Given the description of an element on the screen output the (x, y) to click on. 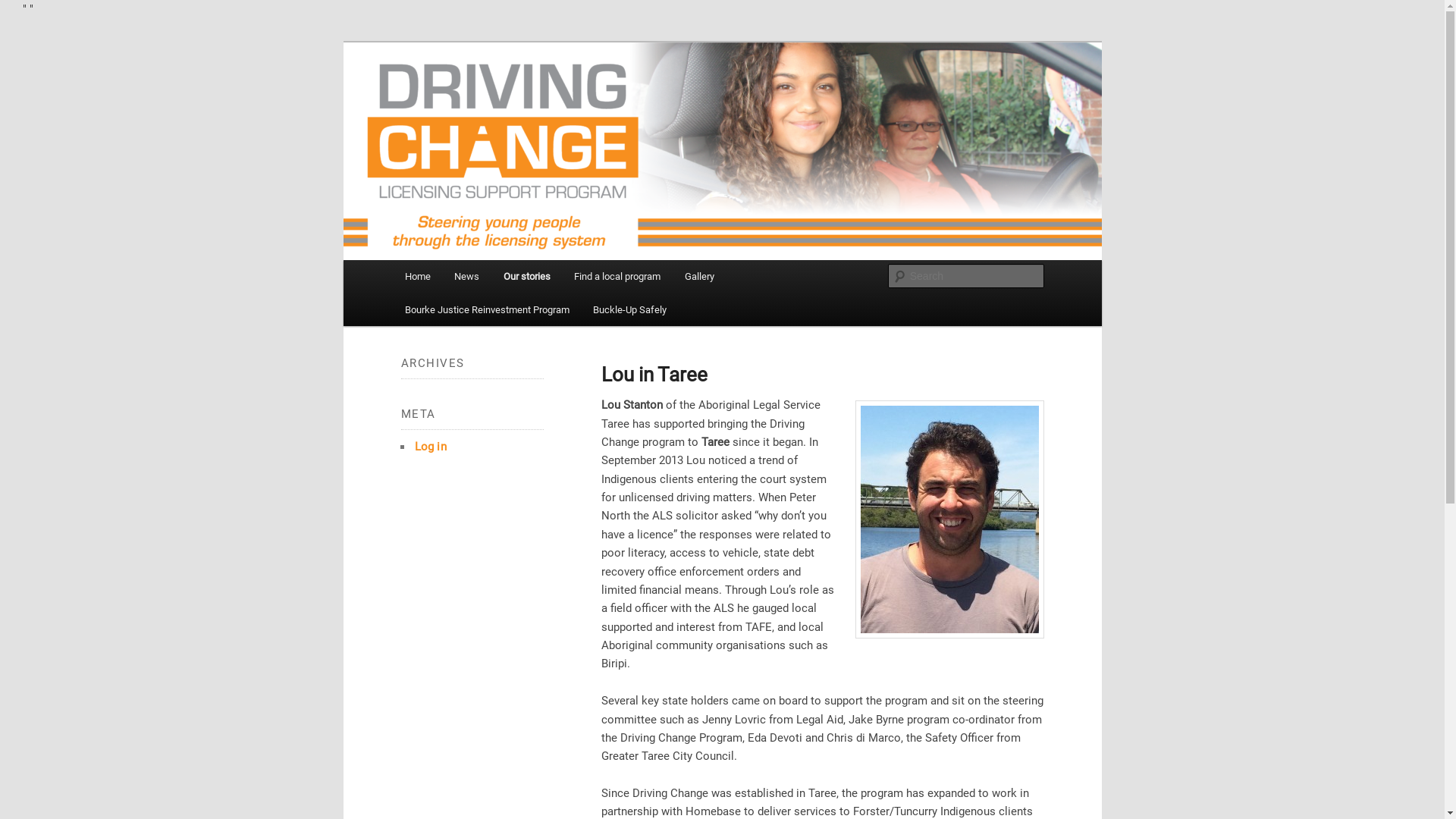
Log in Element type: text (429, 446)
Bourke Justice Reinvestment Program Element type: text (486, 309)
Home Element type: text (417, 276)
Gallery Element type: text (699, 276)
Driving Change Element type: text (477, 111)
Find a local program Element type: text (616, 276)
Skip to primary content Element type: text (22, 18)
News Element type: text (466, 276)
Buckle-Up Safely Element type: text (629, 309)
Our stories Element type: text (526, 276)
Search Element type: text (24, 8)
